Given the description of an element on the screen output the (x, y) to click on. 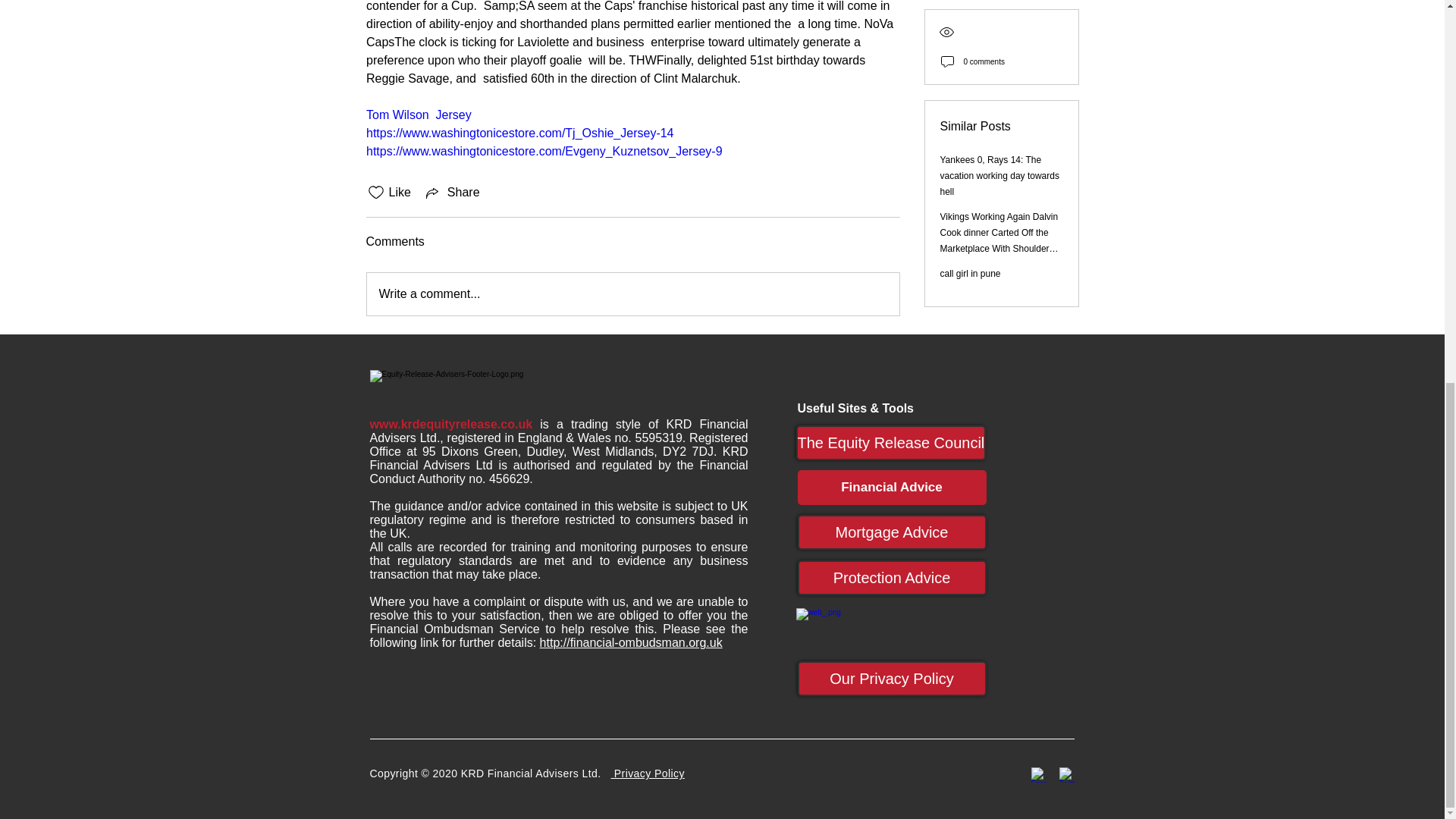
Mortgage Advice (892, 532)
Protection Advice (892, 577)
Write a comment... (632, 293)
Share (451, 192)
Tom Wilson  Jersey (417, 114)
The Equity Release Council (891, 442)
Financial Advice (892, 487)
www.krdequityrelease.co.uk (450, 423)
